Given the description of an element on the screen output the (x, y) to click on. 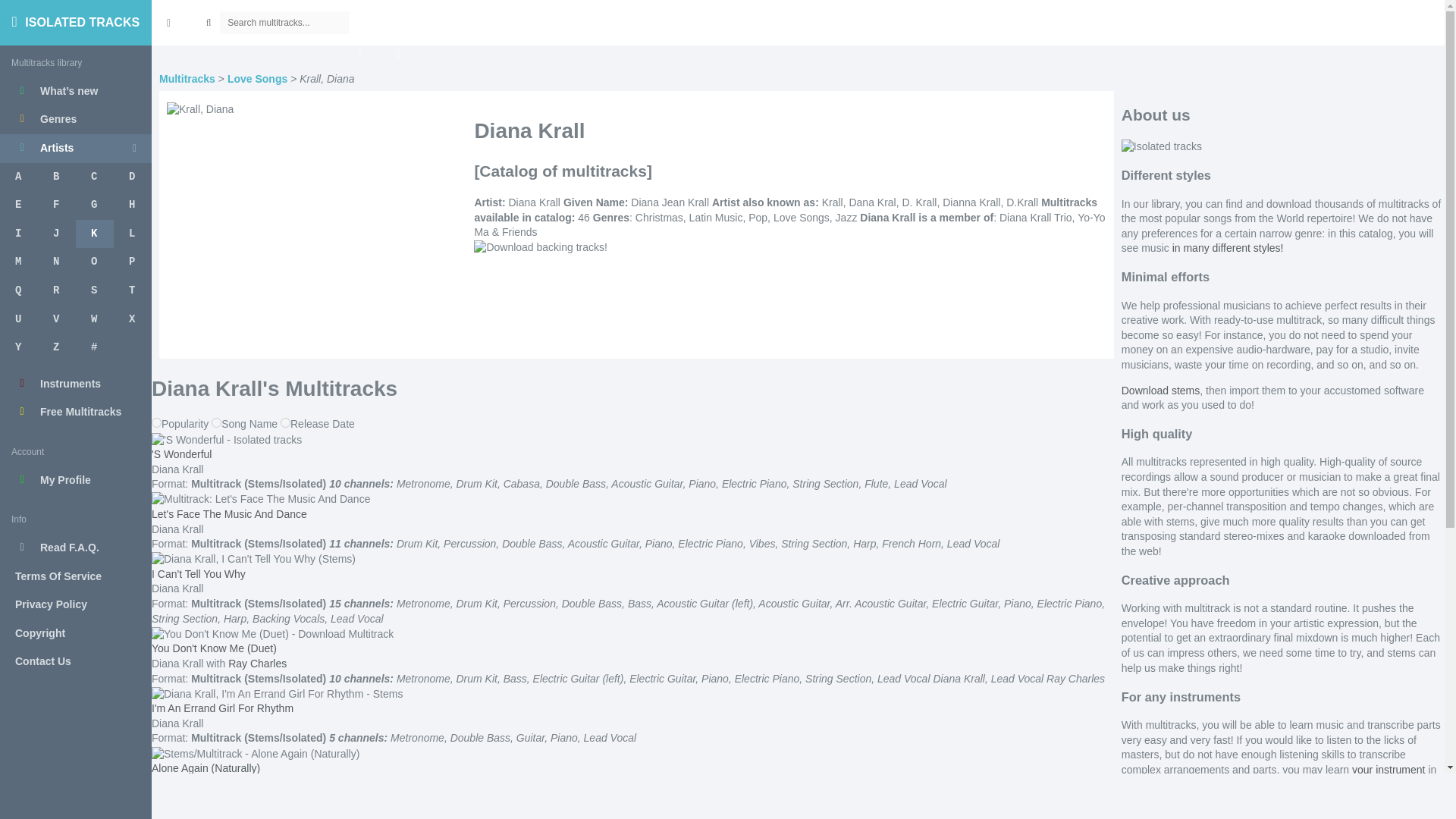
My Profile (75, 480)
E (18, 205)
Artists on K (94, 234)
Artists on D (132, 176)
P (132, 262)
J (56, 234)
Artists on G (94, 205)
Artists on B (56, 176)
Artists on S (94, 290)
ISOLATED TRACKS (75, 22)
Genres (75, 119)
Q (18, 290)
C (94, 176)
Instruments (75, 384)
A (18, 176)
